Given the description of an element on the screen output the (x, y) to click on. 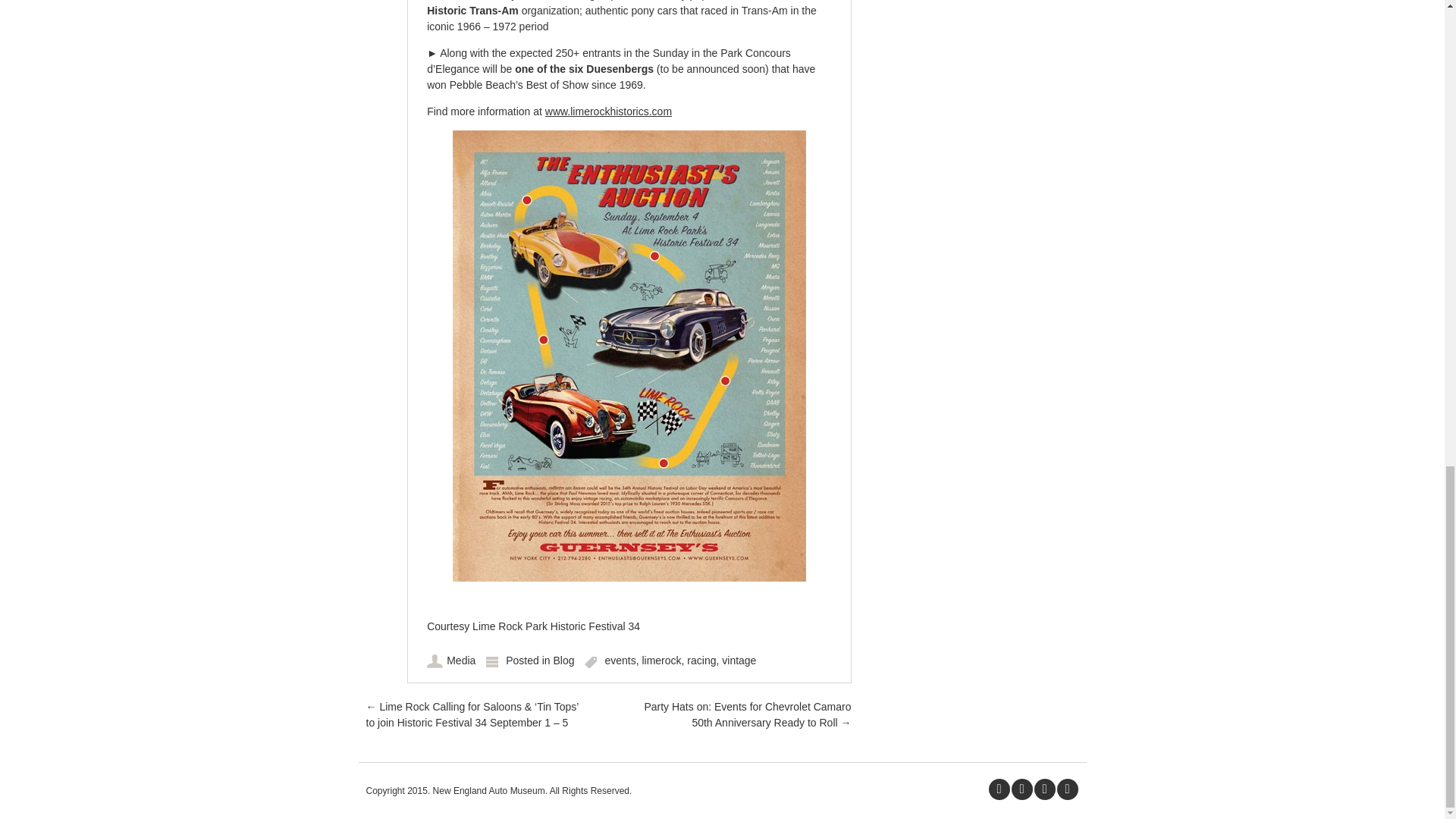
limerock (661, 660)
www.limerockhistorics.com (607, 111)
Blog (563, 660)
vintage (738, 660)
racing (701, 660)
Media (461, 660)
events (619, 660)
